Given the description of an element on the screen output the (x, y) to click on. 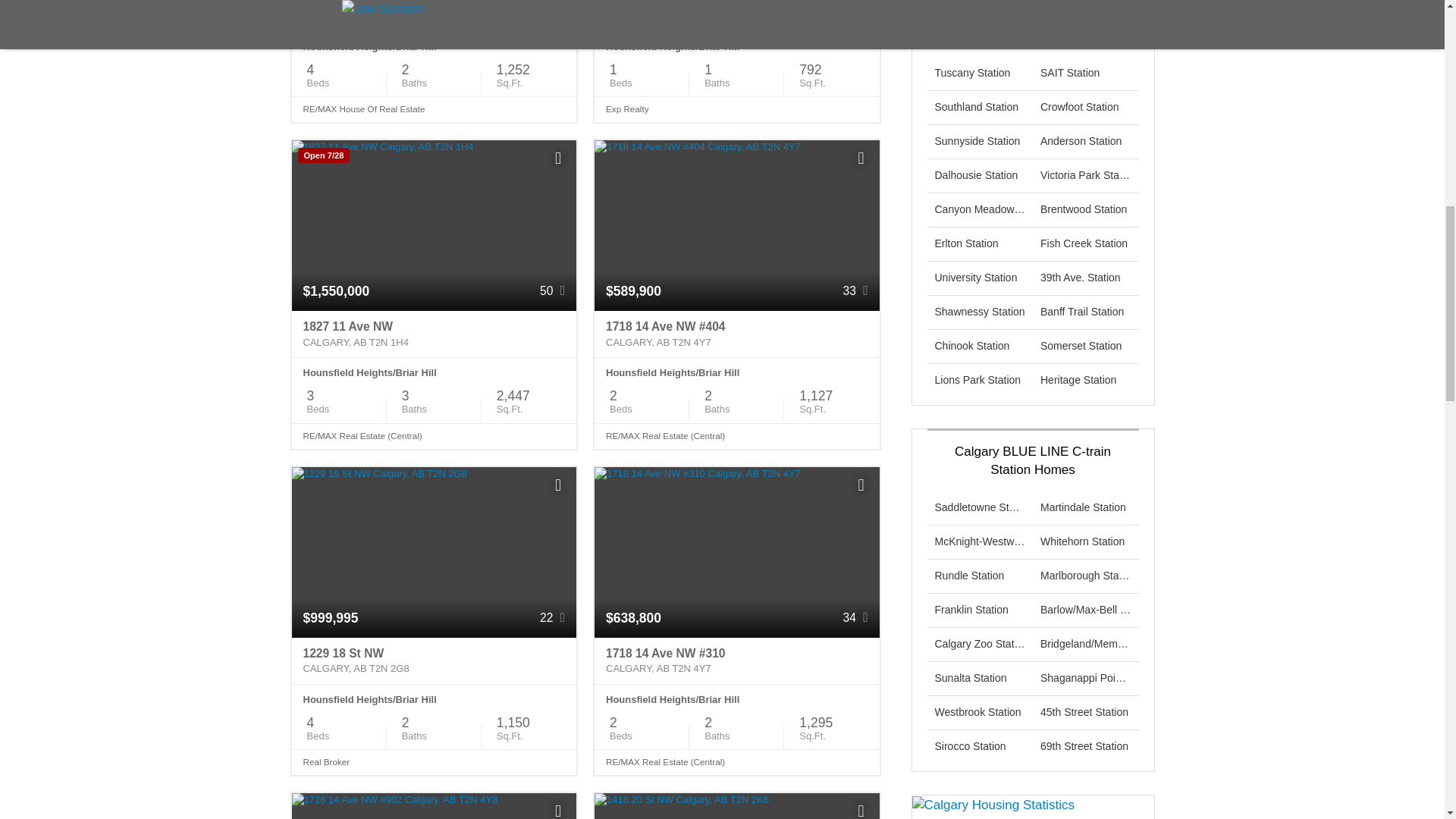
1231 17 St NW Calgary,  AB T2H 2E6 (433, 15)
1229 18 St NW Calgary,  AB T2N 2G8 (433, 661)
1827 11 Ave NW Calgary,  AB T2N 1H4 (433, 334)
